Given the description of an element on the screen output the (x, y) to click on. 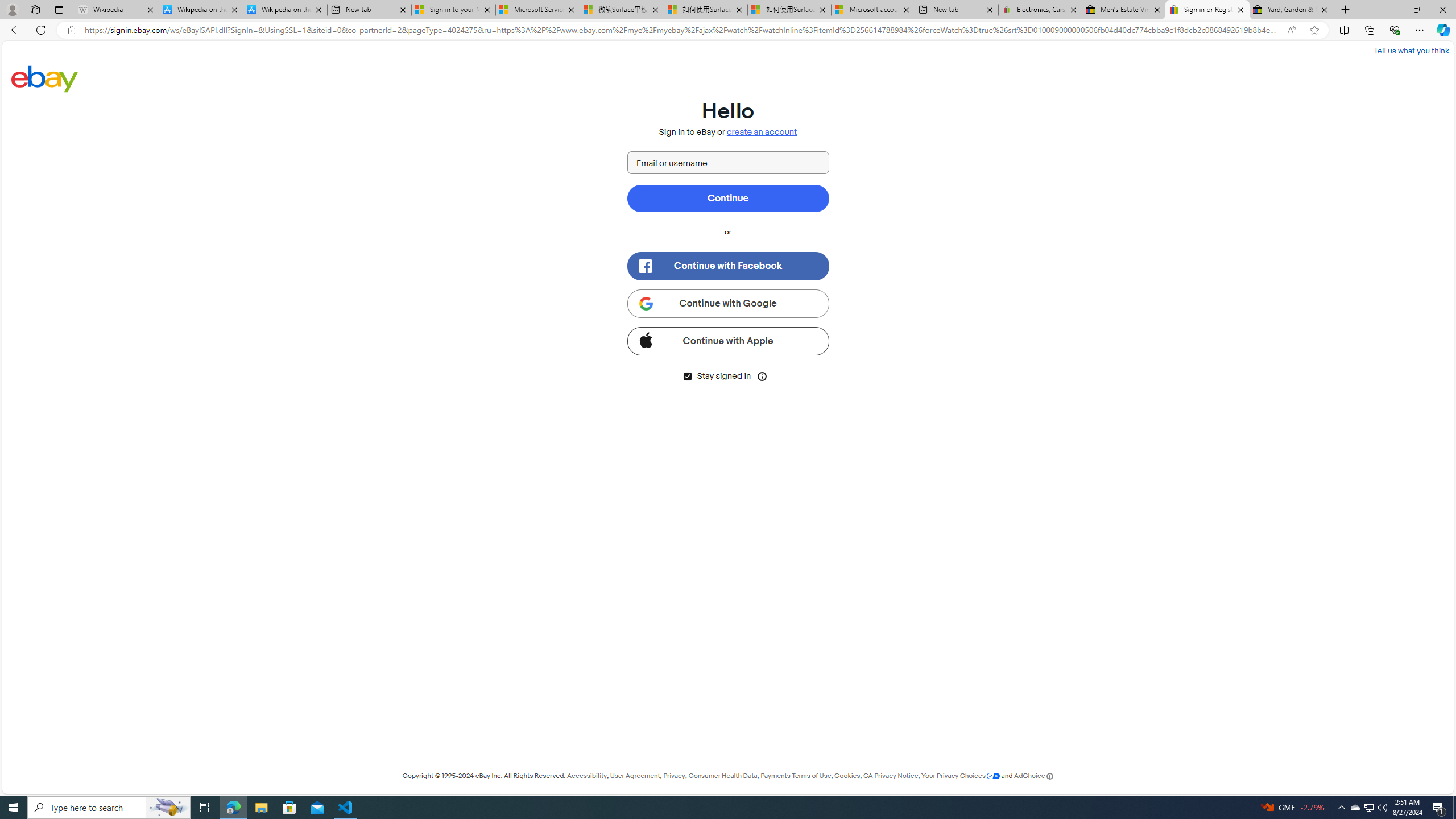
Class: ggl-icon (645, 303)
Tell us what you think - Link opens in a new window (1410, 50)
Continue (727, 198)
Class: apple-icon (645, 339)
create an account (761, 131)
Cookies (847, 775)
